Given the description of an element on the screen output the (x, y) to click on. 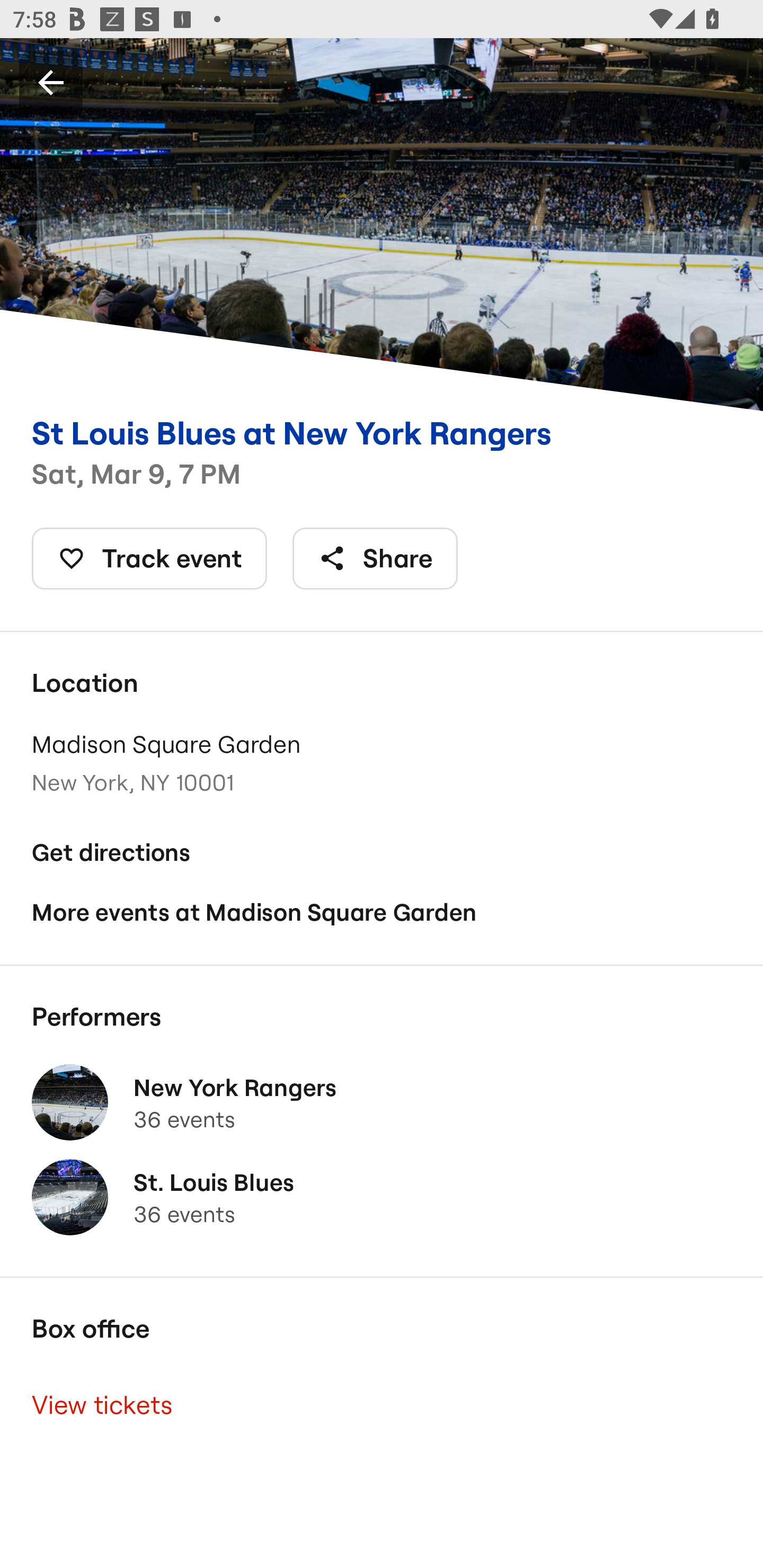
Back (50, 81)
Track event (149, 557)
Share (374, 557)
Get directions (381, 852)
More events at Madison Square Garden (381, 912)
New York Rangers 36 events (381, 1102)
St. Louis Blues 36 events (381, 1196)
View tickets (381, 1405)
